Given the description of an element on the screen output the (x, y) to click on. 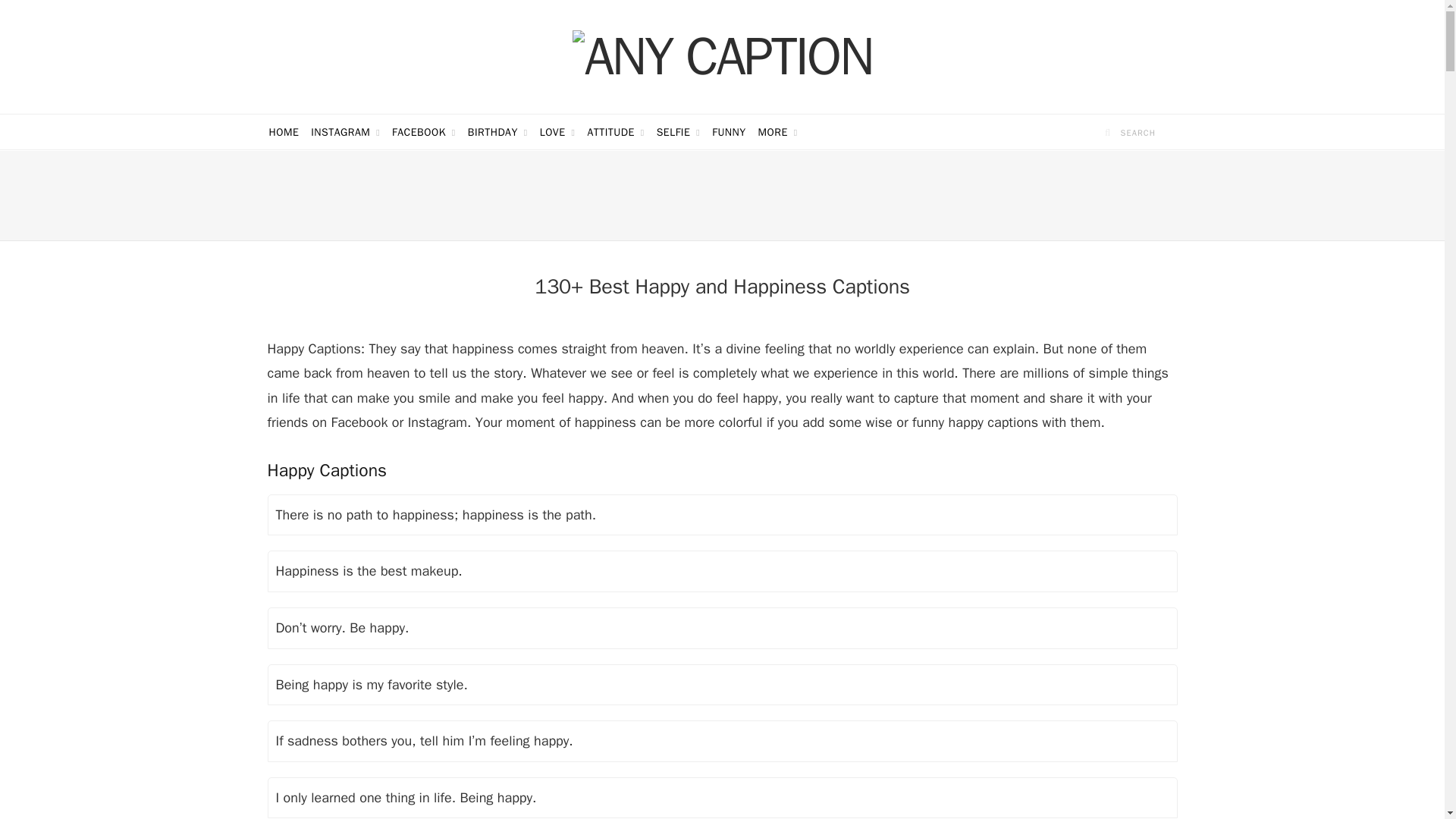
Any Caption (722, 56)
MORE (777, 132)
SELFIE (678, 132)
ATTITUDE (614, 132)
FUNNY (728, 132)
FACEBOOK (423, 132)
INSTAGRAM (344, 132)
LOVE (557, 132)
HOME (283, 132)
BIRTHDAY (497, 132)
